Given the description of an element on the screen output the (x, y) to click on. 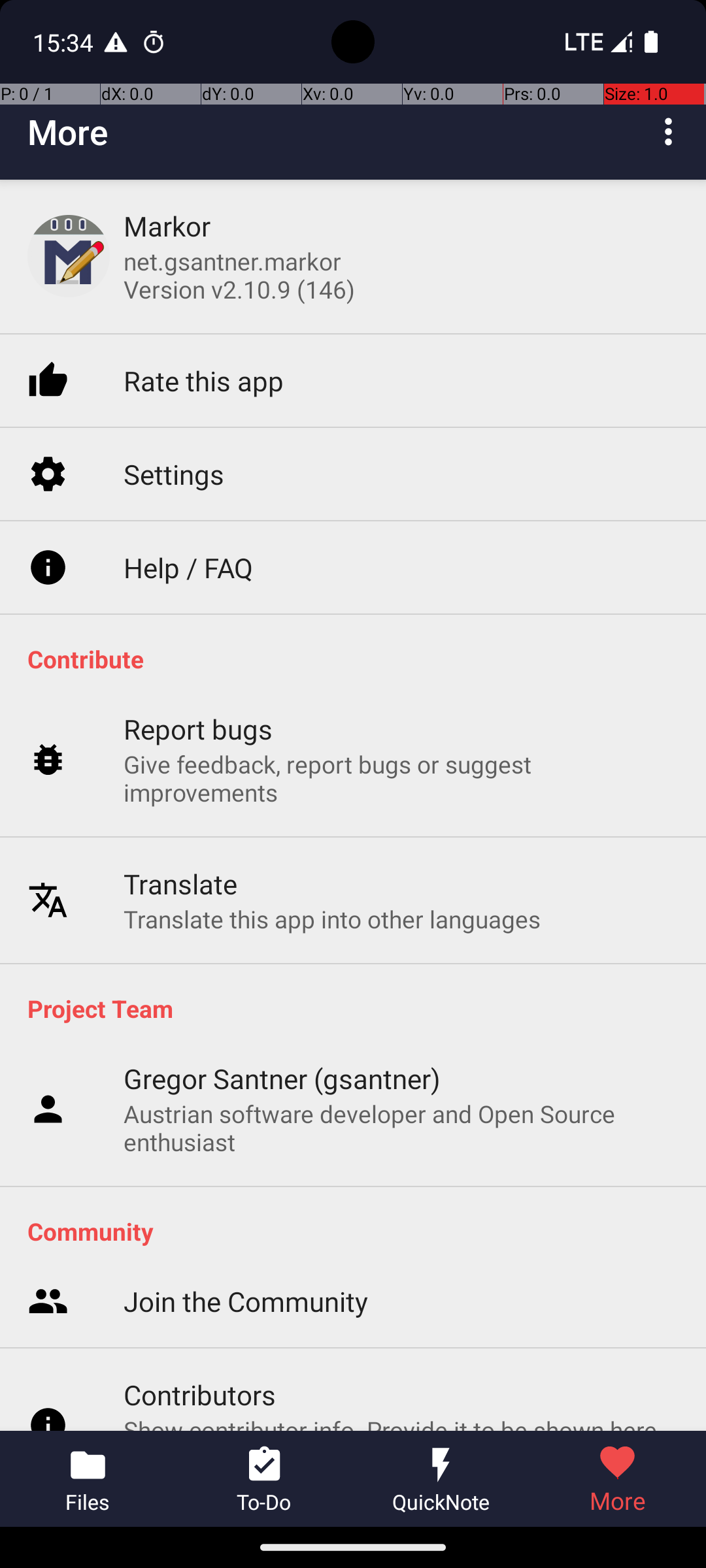
Project Team Element type: android.widget.TextView (359, 1008)
Community Element type: android.widget.TextView (359, 1230)
Gregor Santner (gsantner) Element type: android.widget.TextView (281, 1077)
Austrian software developer and Open Source enthusiast Element type: android.widget.TextView (400, 1127)
Join the Community Element type: android.widget.TextView (245, 1154)
Show contributor info. Provide it to be shown here on an opt-in basis after contributing Element type: android.widget.TextView (400, 1295)
